Given the description of an element on the screen output the (x, y) to click on. 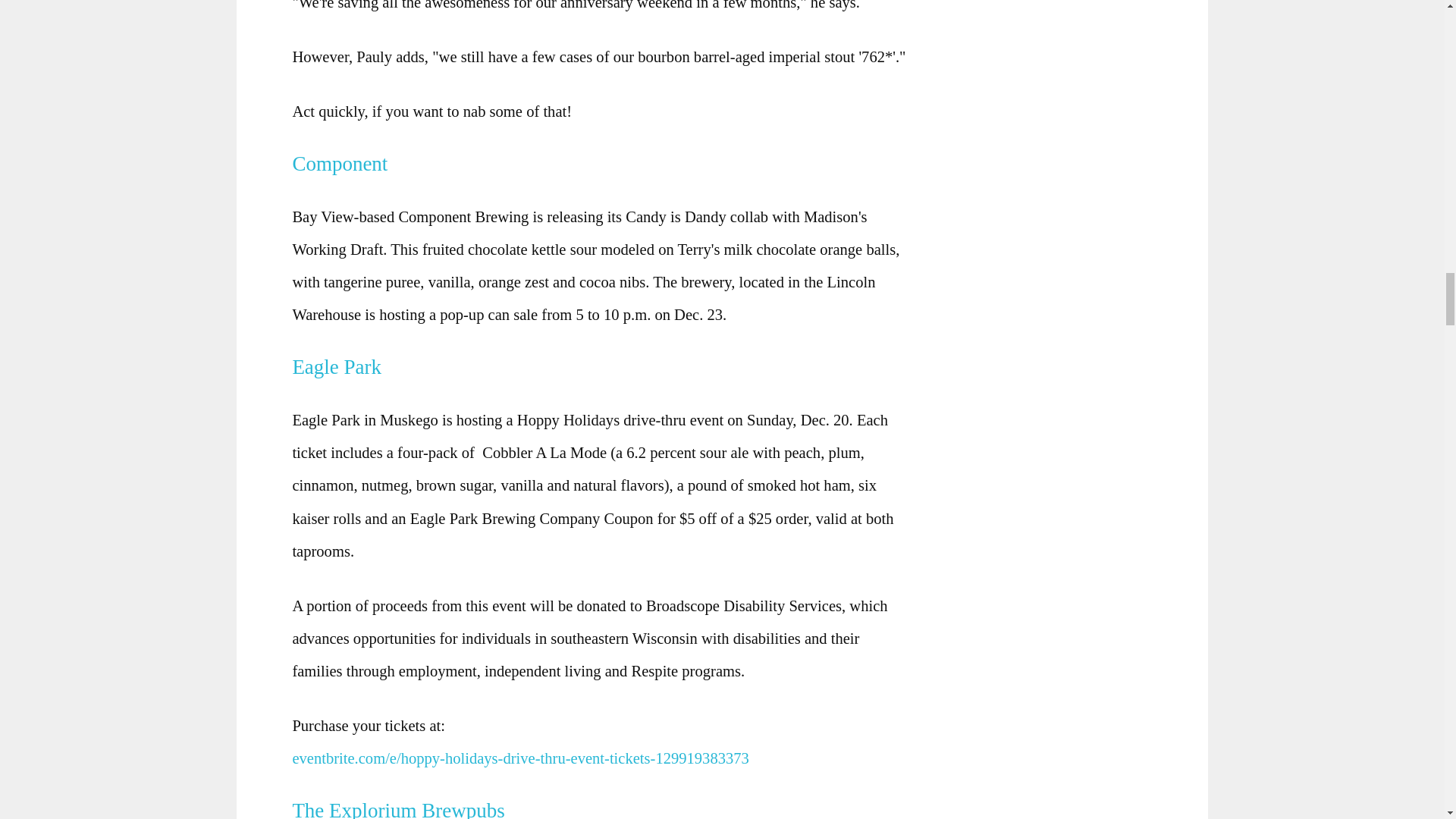
Component (344, 163)
Eagle Park (341, 366)
The Explorium Brewpubs (402, 809)
